Given the description of an element on the screen output the (x, y) to click on. 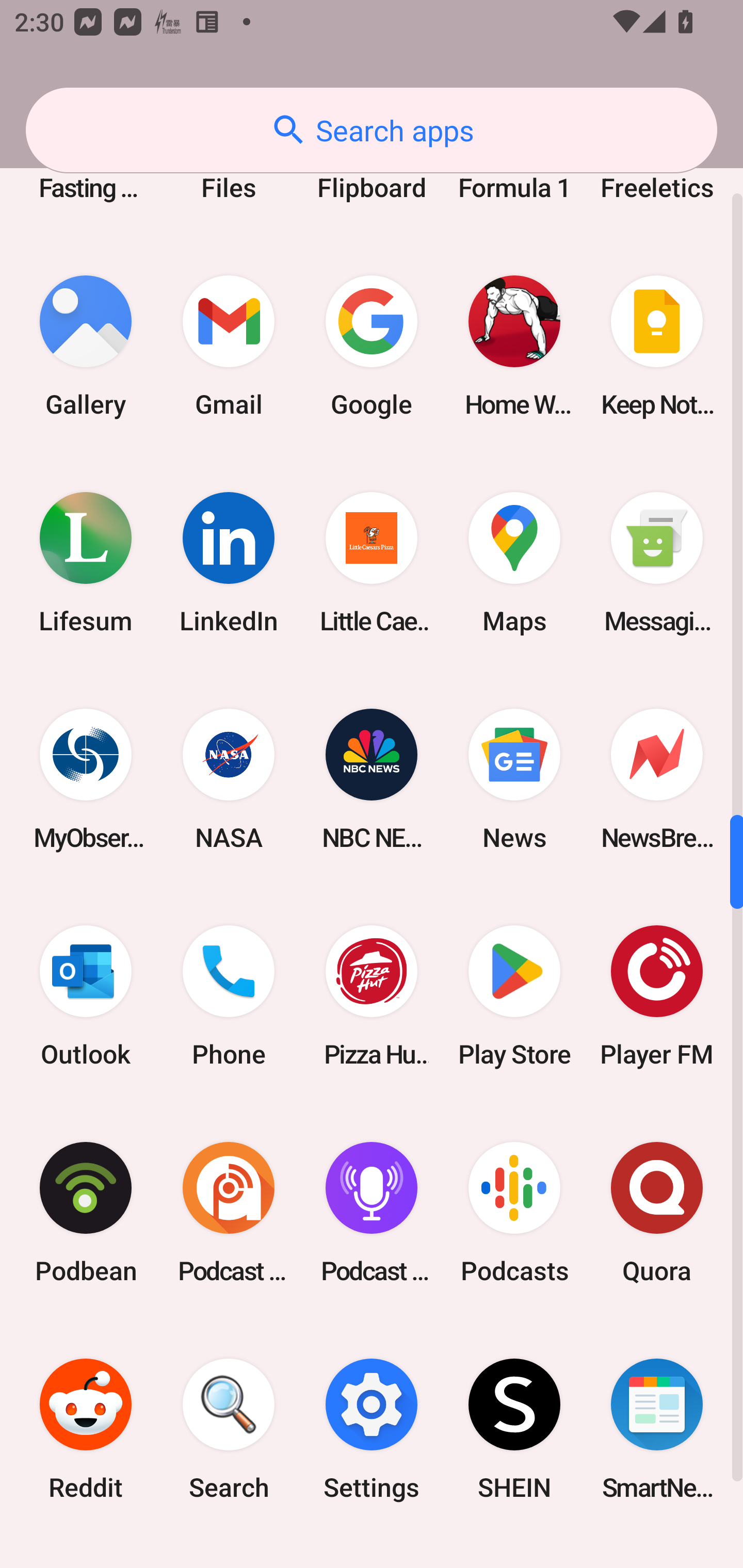
  Search apps (371, 130)
Gallery (85, 346)
Gmail (228, 346)
Google (371, 346)
Home Workout (514, 346)
Keep Notes (656, 346)
Lifesum (85, 562)
LinkedIn (228, 562)
Little Caesars Pizza (371, 562)
Maps (514, 562)
Messaging (656, 562)
MyObservatory (85, 779)
NASA (228, 779)
NBC NEWS (371, 779)
News (514, 779)
NewsBreak (656, 779)
Outlook (85, 995)
Phone (228, 995)
Pizza Hut HK & Macau (371, 995)
Play Store (514, 995)
Player FM (656, 995)
Podbean (85, 1211)
Podcast Addict (228, 1211)
Podcast Player (371, 1211)
Podcasts (514, 1211)
Quora (656, 1211)
Reddit (85, 1429)
Search (228, 1429)
Settings (371, 1429)
SHEIN (514, 1429)
SmartNews (656, 1429)
